Given the description of an element on the screen output the (x, y) to click on. 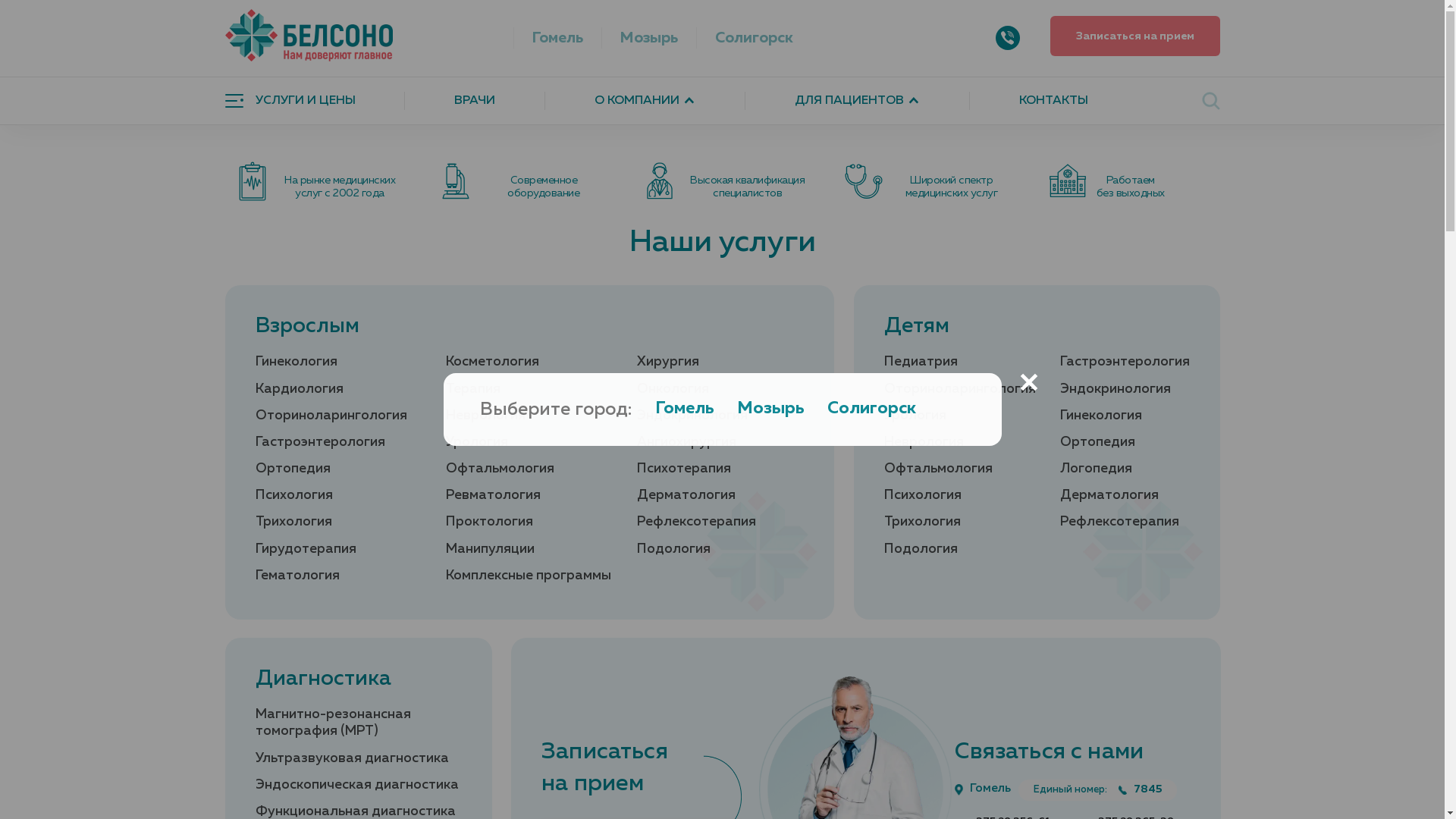
7845 Element type: text (1139, 789)
